Given the description of an element on the screen output the (x, y) to click on. 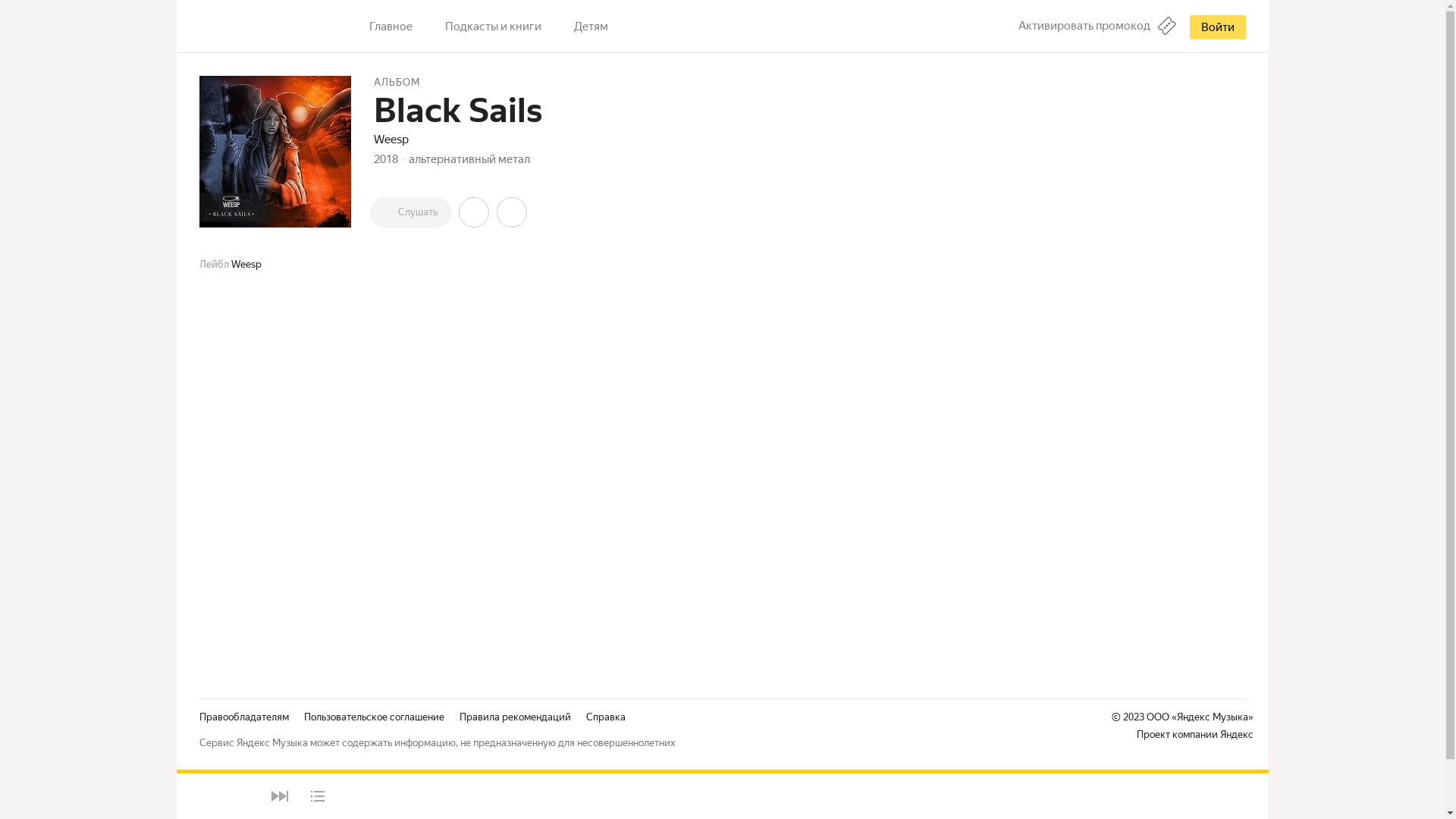
Weesp Element type: text (245, 263)
Weesp Element type: text (390, 139)
